Given the description of an element on the screen output the (x, y) to click on. 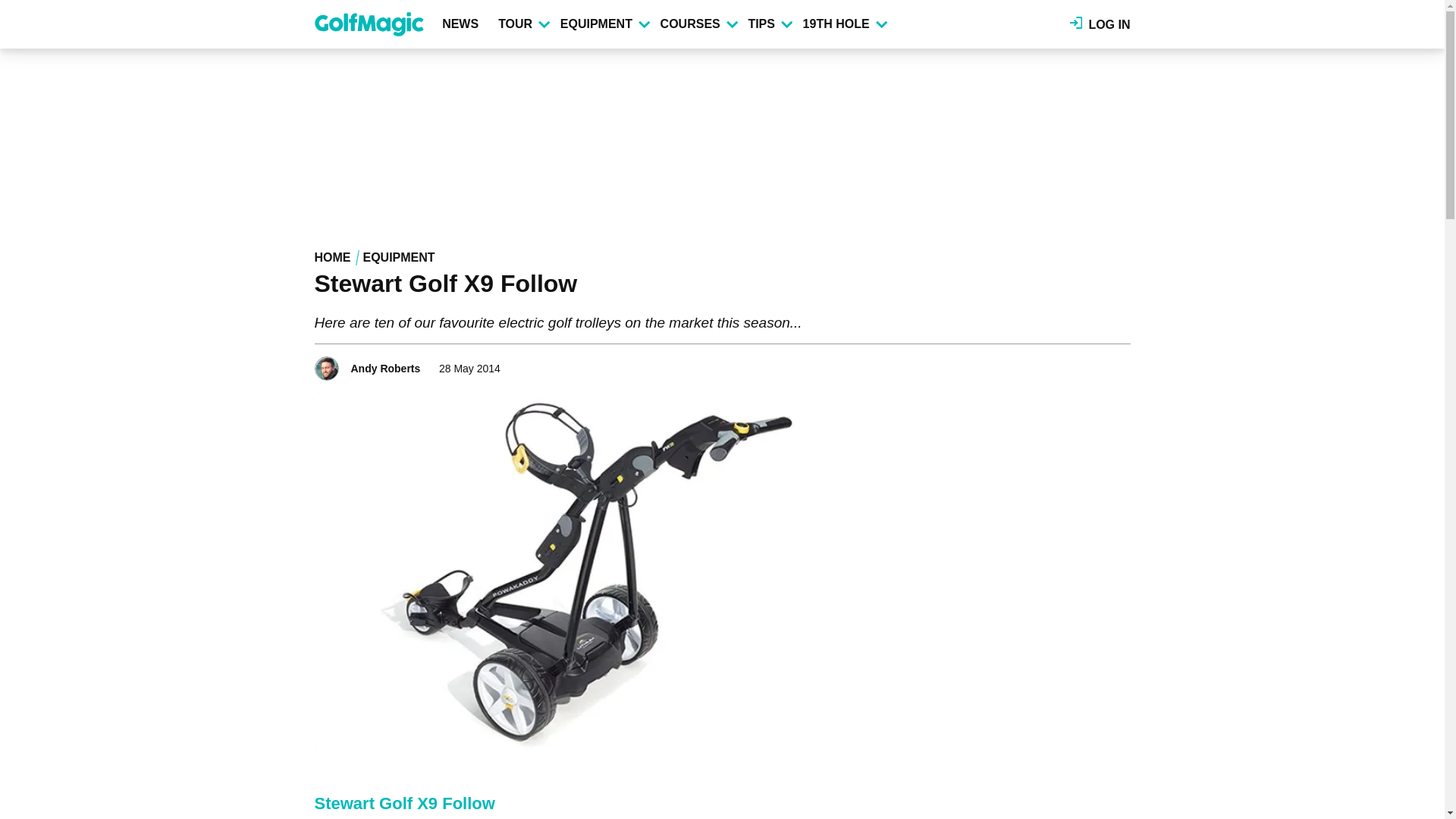
NEWS (463, 24)
Share to Email (1119, 363)
EQUIPMENT (603, 24)
Share to Facebook (1055, 363)
TOUR (523, 24)
LOG IN (1100, 24)
Share to X (1076, 363)
Share to Linkedin (1097, 363)
